Given the description of an element on the screen output the (x, y) to click on. 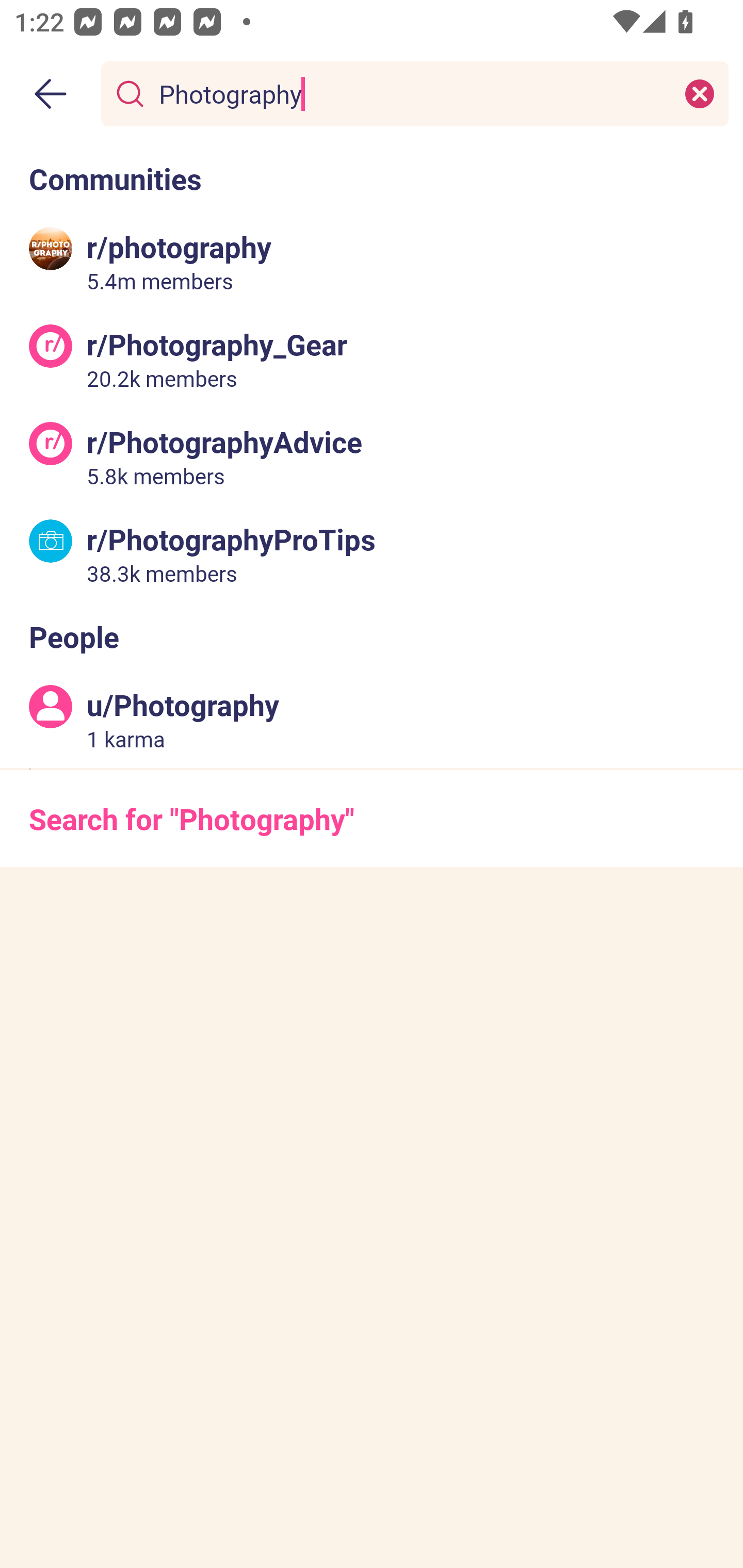
Back (50, 93)
Photography (410, 93)
Clear search (699, 93)
r/photography 5.4m members 5.4 million members (371, 261)
u/Photography 1 karma 1 karma (371, 719)
Search for "Photography" (371, 818)
